Given the description of an element on the screen output the (x, y) to click on. 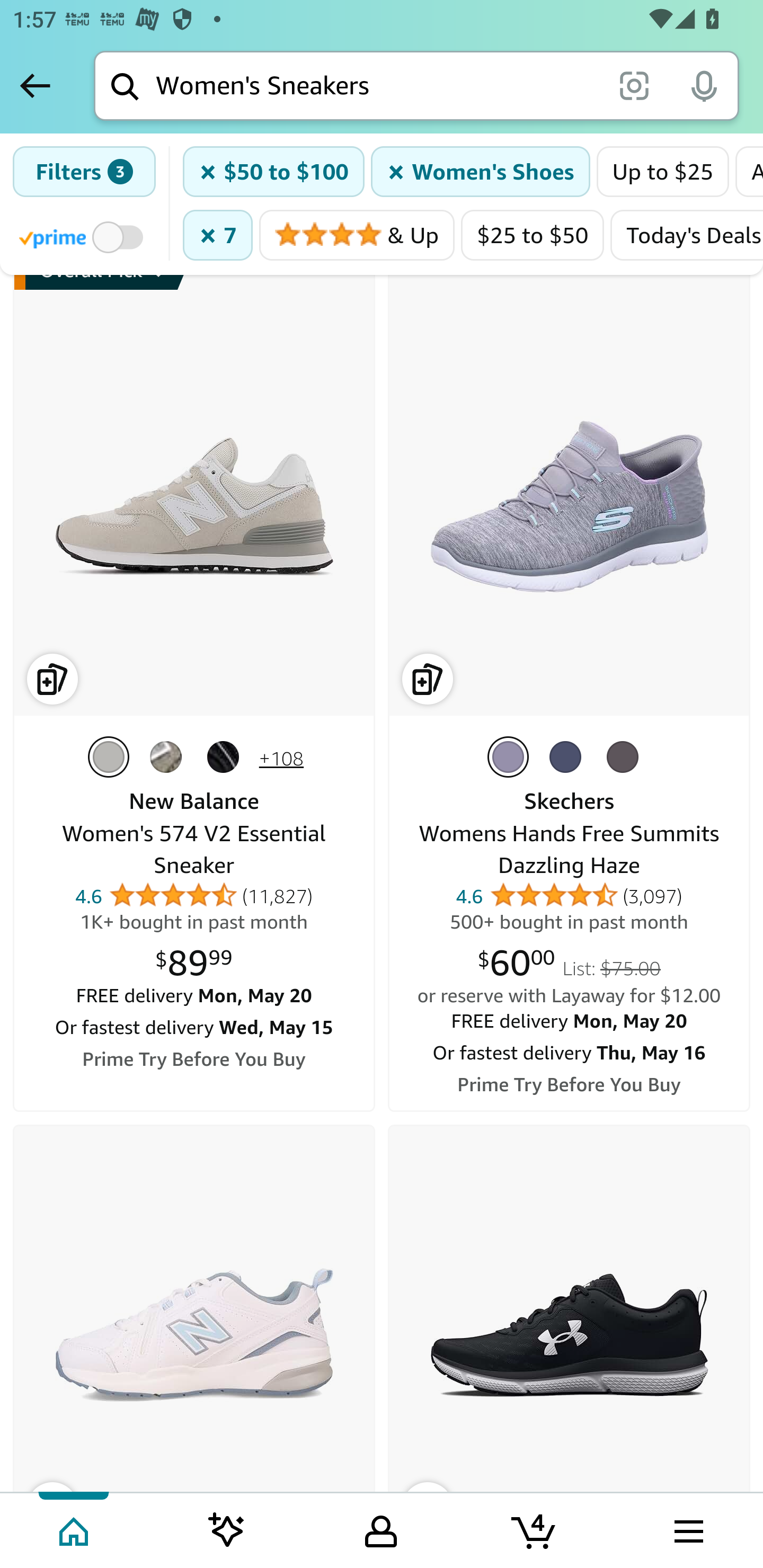
Back (35, 85)
scan it (633, 85)
Filters 3 (83, 172)
× $50 to $100 × $50 to $100 (274, 172)
× Women's Shoes × Women's Shoes (480, 172)
Up to $25 (662, 172)
Toggle to filter by Prime products Prime Eligible (83, 237)
× 7 × 7 (217, 235)
4 Stars & Up (356, 235)
$25 to $50 (532, 235)
Today's Deals (686, 235)
Nimbus Cloud With White (111, 757)
Grey With White (168, 757)
Black With White (225, 757)
Grey Mint (511, 757)
Navy Purple (568, 757)
Black White (625, 757)
+108 (281, 759)
Home Tab 1 of 5 (75, 1529)
Inspire feed Tab 2 of 5 (227, 1529)
Your Amazon.com Tab 3 of 5 (380, 1529)
Cart 4 items Tab 4 of 5 4 (534, 1529)
Browse menu Tab 5 of 5 (687, 1529)
